Given the description of an element on the screen output the (x, y) to click on. 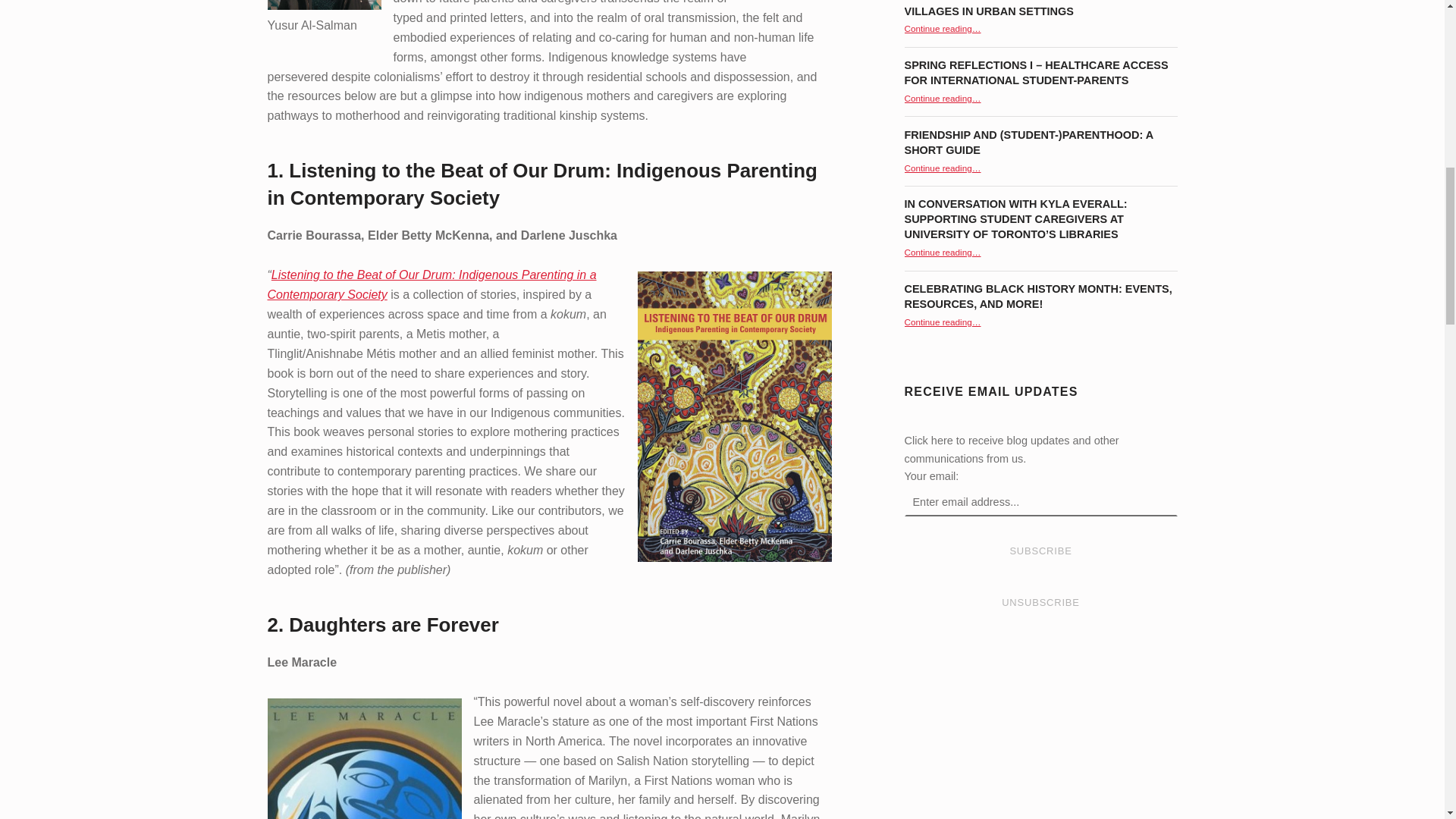
Subscribe (1040, 551)
Unsubscribe (1040, 602)
Enter email address... (1040, 502)
